Given the description of an element on the screen output the (x, y) to click on. 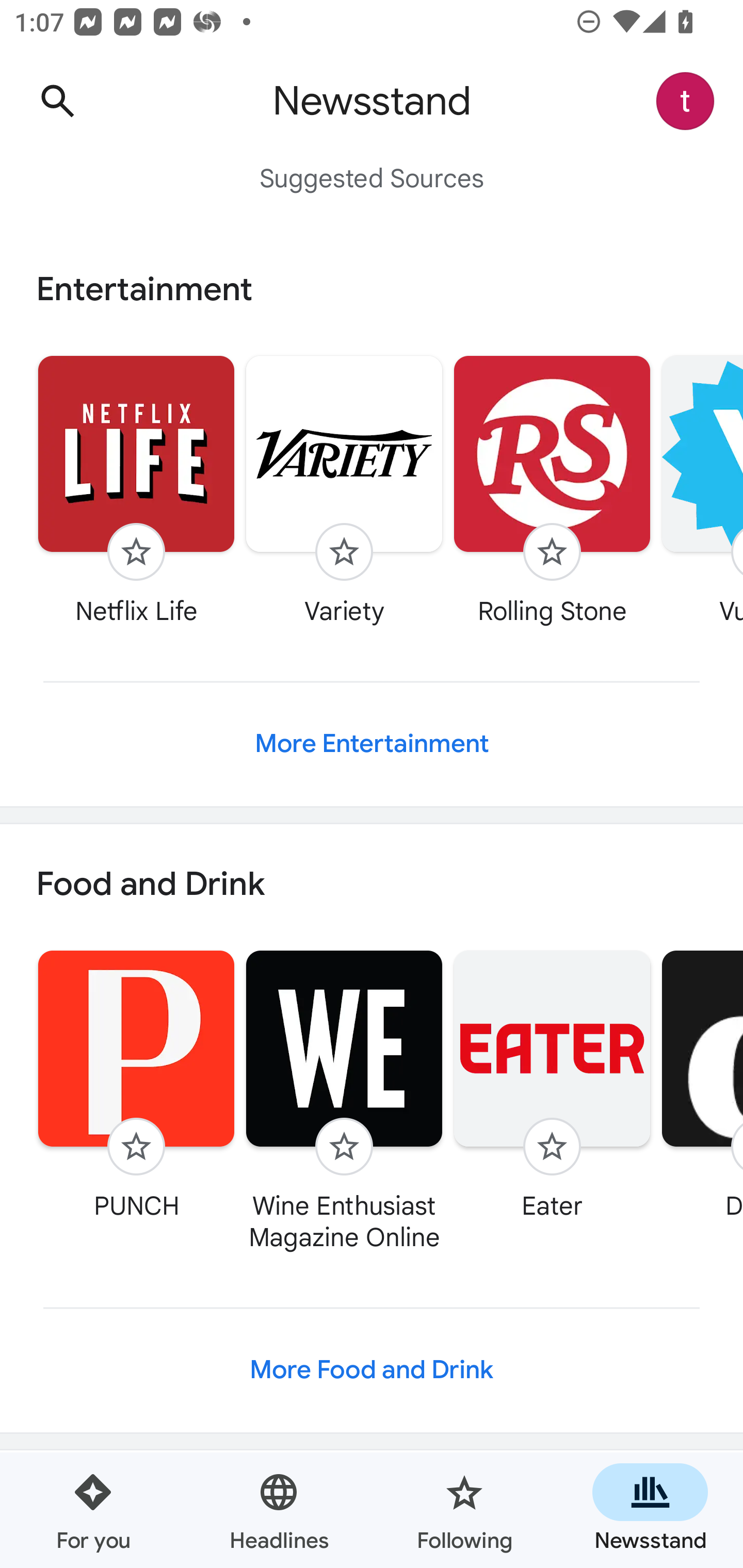
Search (57, 100)
Entertainment (371, 288)
Follow Netflix Life (136, 489)
Follow Variety (344, 489)
Follow Rolling Stone (552, 489)
Follow (135, 551)
Follow (343, 551)
Follow (552, 551)
More Entertainment (371, 743)
Food and Drink (371, 884)
Follow PUNCH (136, 1084)
Follow Wine Enthusiast Magazine Online (344, 1100)
Follow Eater (552, 1084)
Follow (135, 1146)
Follow (343, 1146)
Follow (552, 1146)
More Food and Drink (371, 1369)
Health and Fitness (371, 1509)
For you (92, 1509)
Headlines (278, 1509)
Following (464, 1509)
Newsstand (650, 1509)
